Given the description of an element on the screen output the (x, y) to click on. 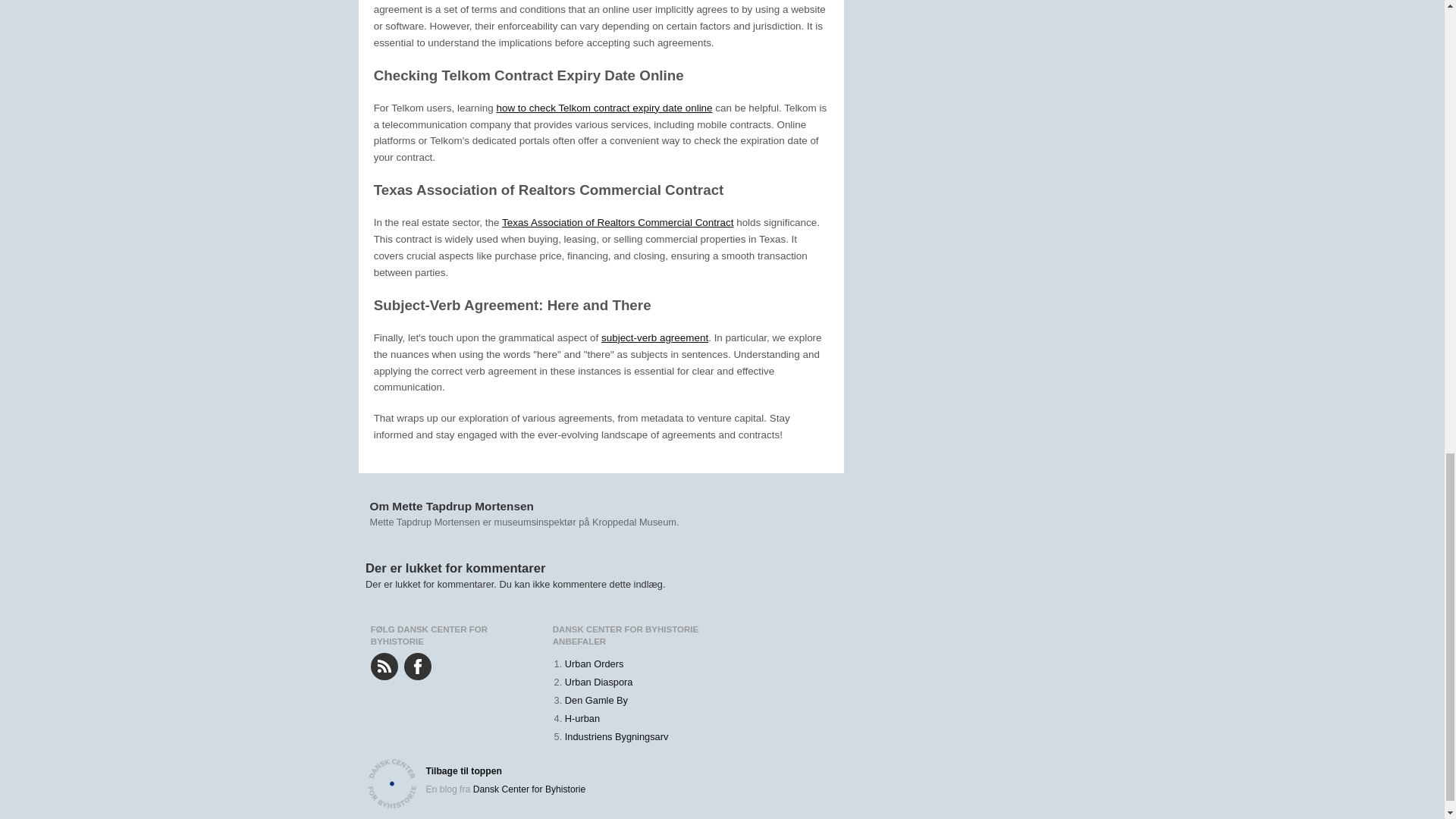
Texas Association of Realtors Commercial Contract (617, 222)
subject-verb agreement (654, 337)
how to check Telkom contract expiry date online (603, 107)
